Given the description of an element on the screen output the (x, y) to click on. 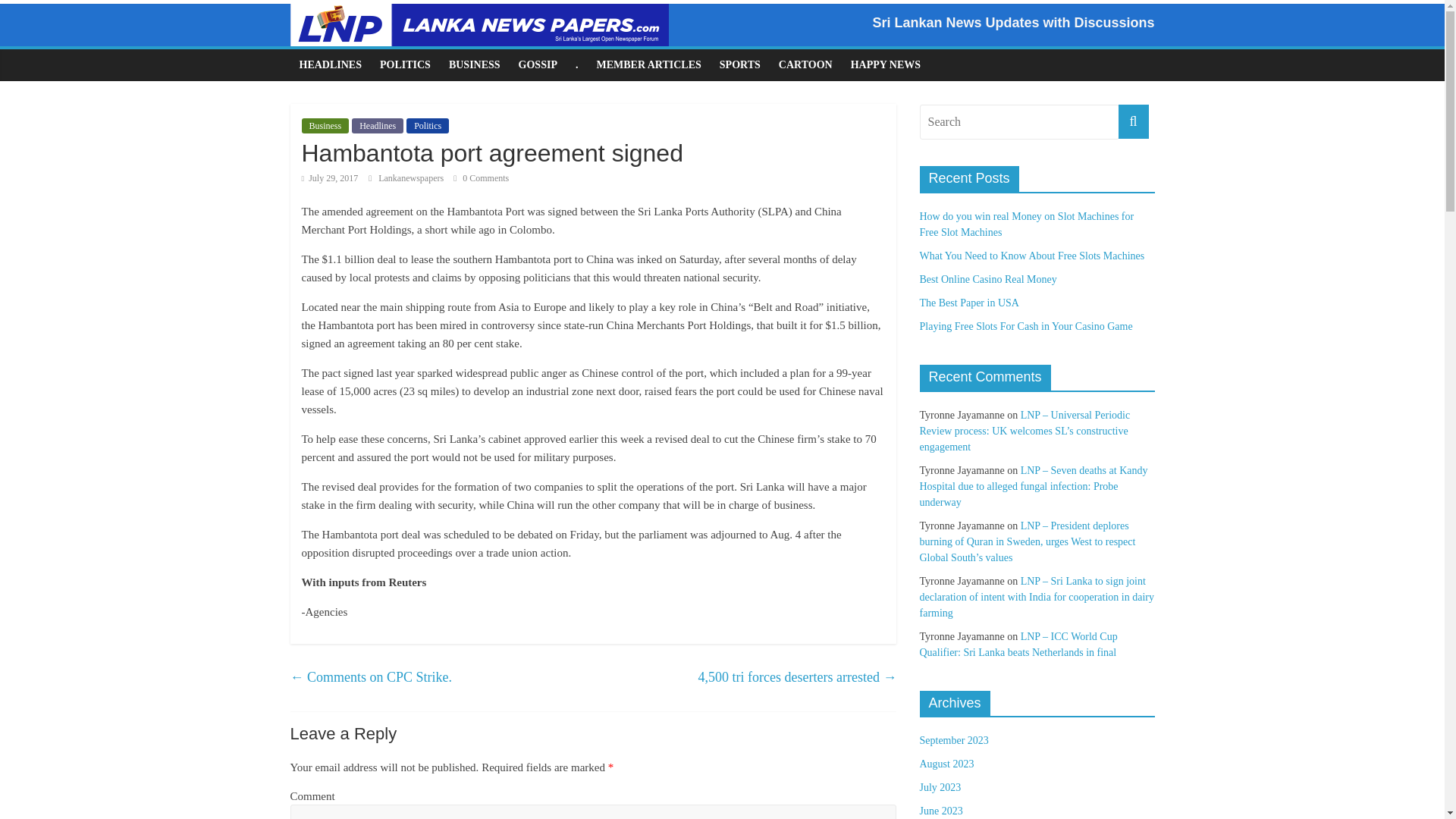
Best Online Casino Real Money (987, 279)
HEADLINES (329, 65)
7:40 am (329, 177)
SPORTS (740, 65)
0 Comments (480, 177)
July 29, 2017 (329, 177)
Playing Free Slots For Cash in Your Casino Game (1025, 326)
Lankanewspapers (411, 177)
GOSSIP (537, 65)
